Given the description of an element on the screen output the (x, y) to click on. 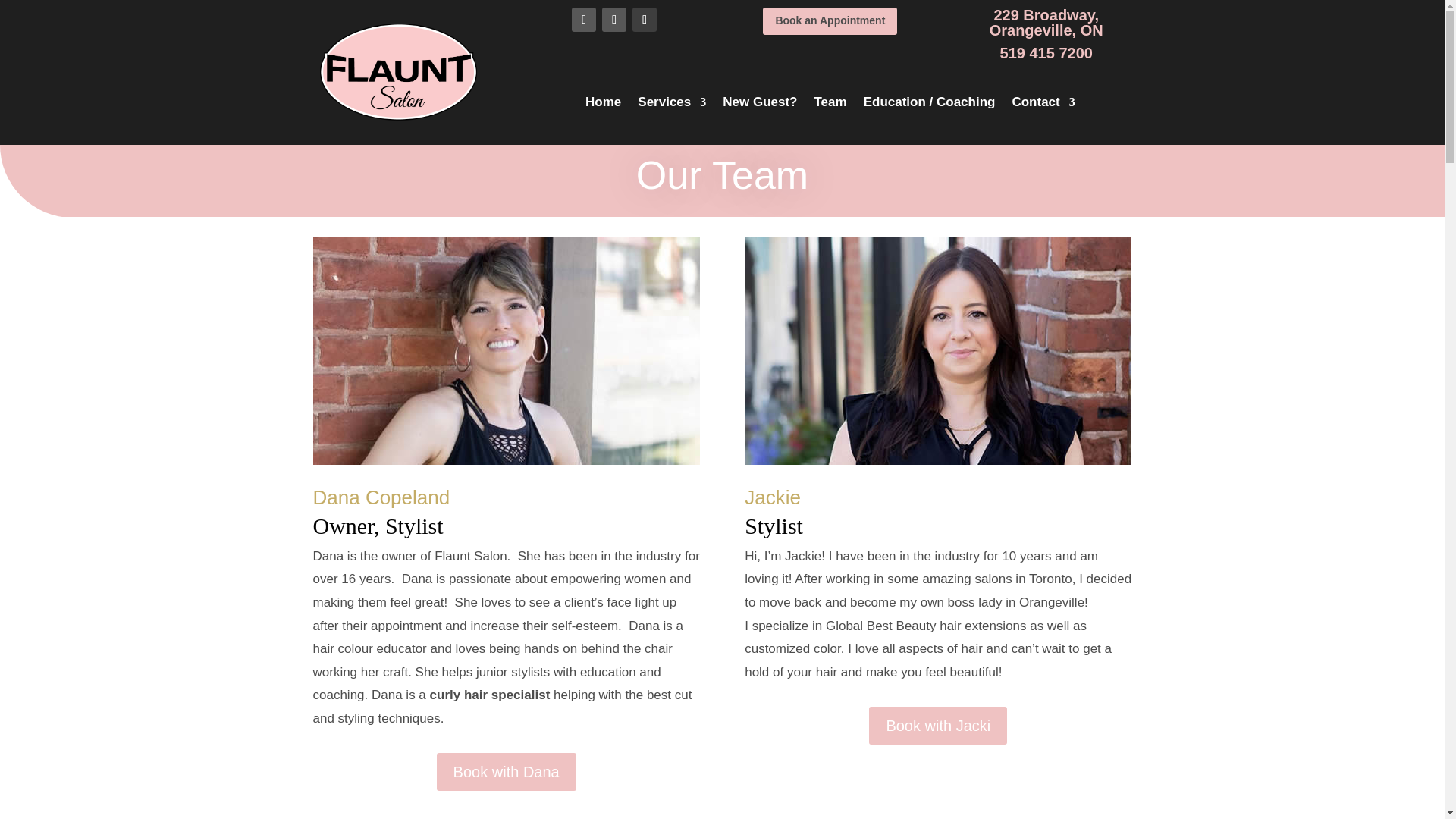
Book with Dana (506, 771)
Services (671, 105)
Home (603, 105)
New Guest? (759, 105)
Follow on Instagram (583, 19)
Follow on Youtube (643, 19)
Contact (1042, 105)
danaheadshot (505, 351)
Book an Appointment (829, 21)
Team (830, 105)
Follow on Facebook (614, 19)
flauntsalonlogopink-01 (398, 72)
jackieheadshot (937, 351)
Book with Jacki (938, 725)
